Given the description of an element on the screen output the (x, y) to click on. 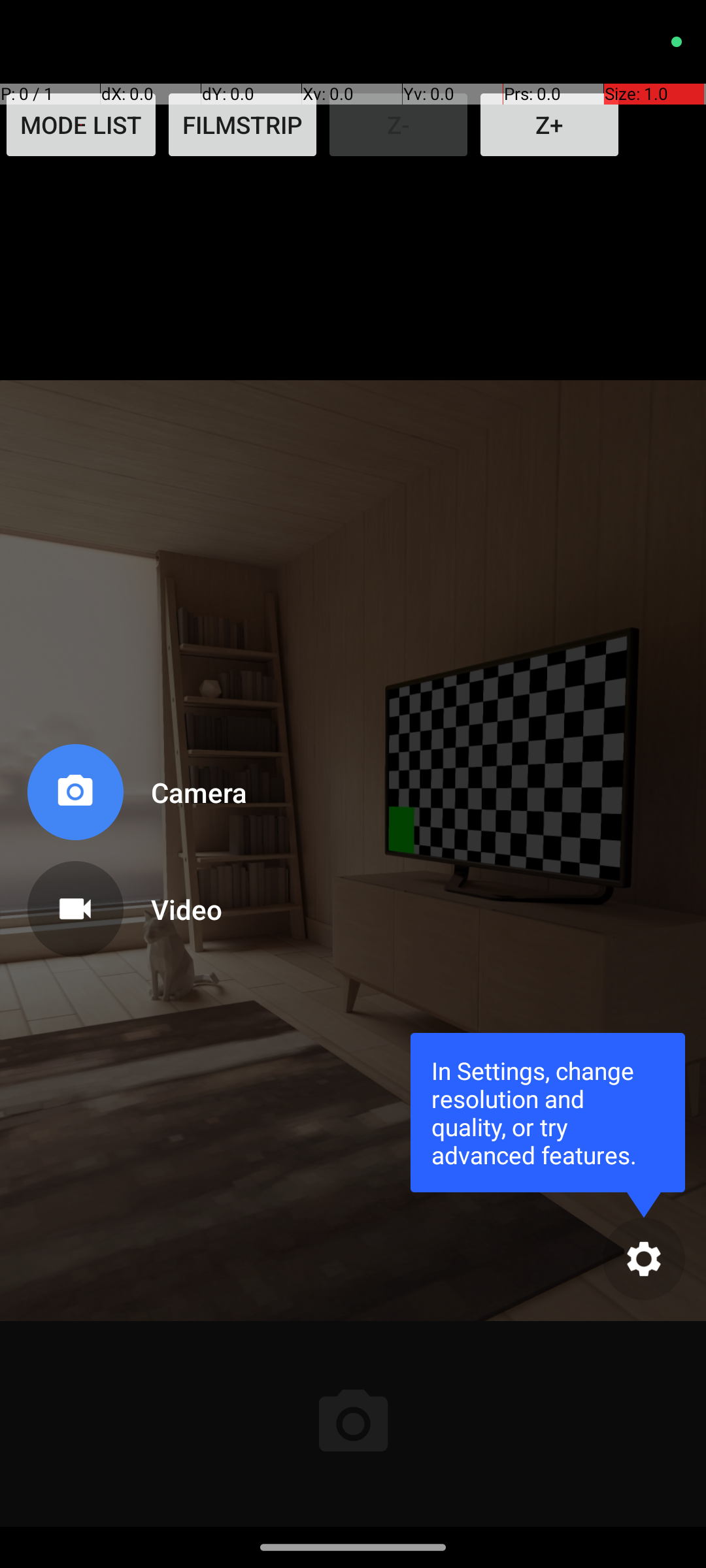
Switch to Camera Mode Element type: android.widget.FrameLayout (134, 797)
Switch to Video Camera Element type: android.widget.FrameLayout (134, 903)
In Settings, change resolution and quality, or try advanced features. Element type: android.widget.TextView (547, 1112)
